Given the description of an element on the screen output the (x, y) to click on. 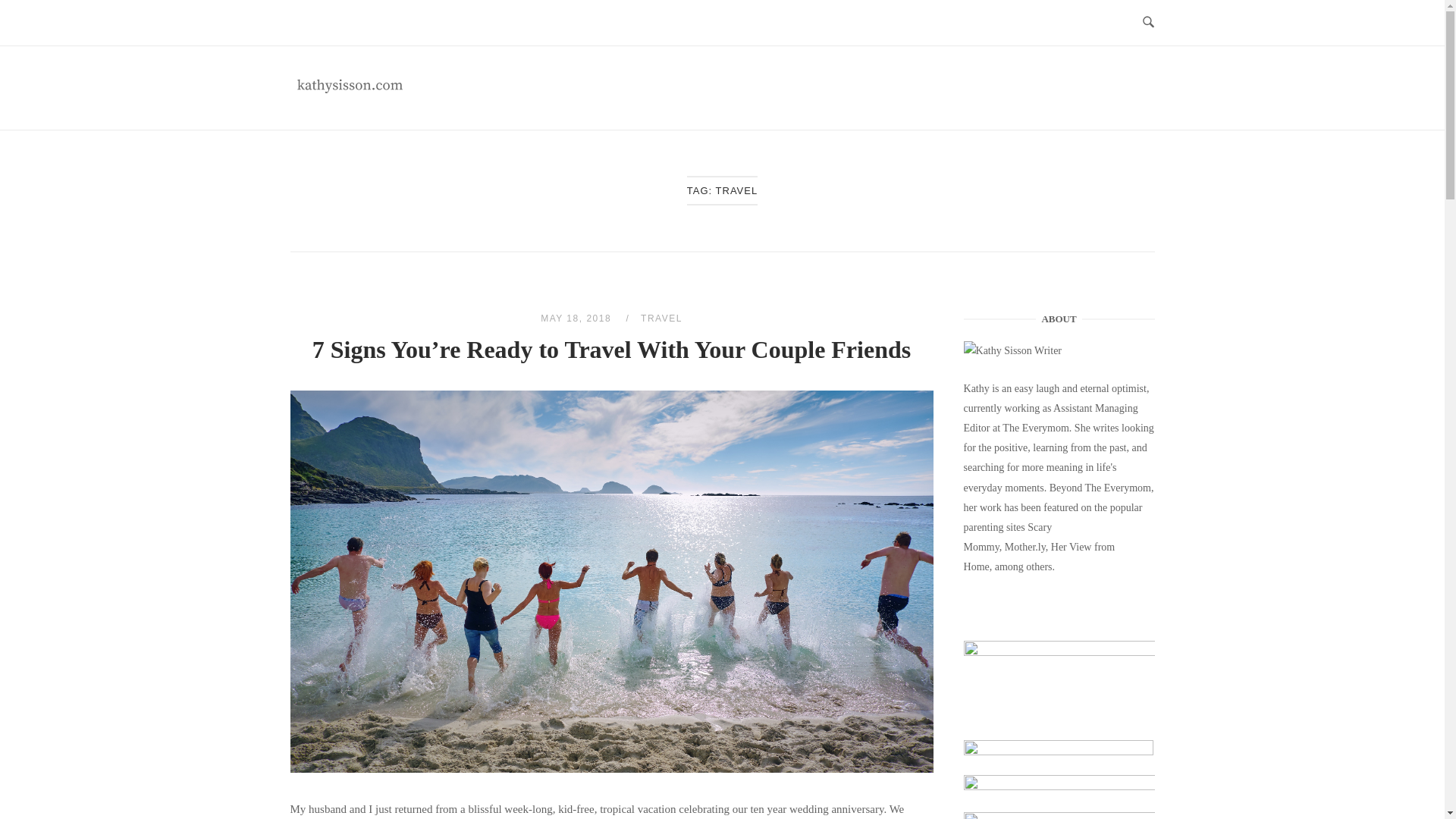
Scary Mommy  (1058, 757)
Mother.ly, (1026, 546)
Motherly Logo (1058, 815)
Home (402, 95)
MAY 18, 2018 (577, 317)
The Everymom (1117, 487)
TRAVEL (661, 317)
Scary Mommy (1007, 536)
The Everymom (1035, 428)
Her View From Home (1058, 793)
